Given the description of an element on the screen output the (x, y) to click on. 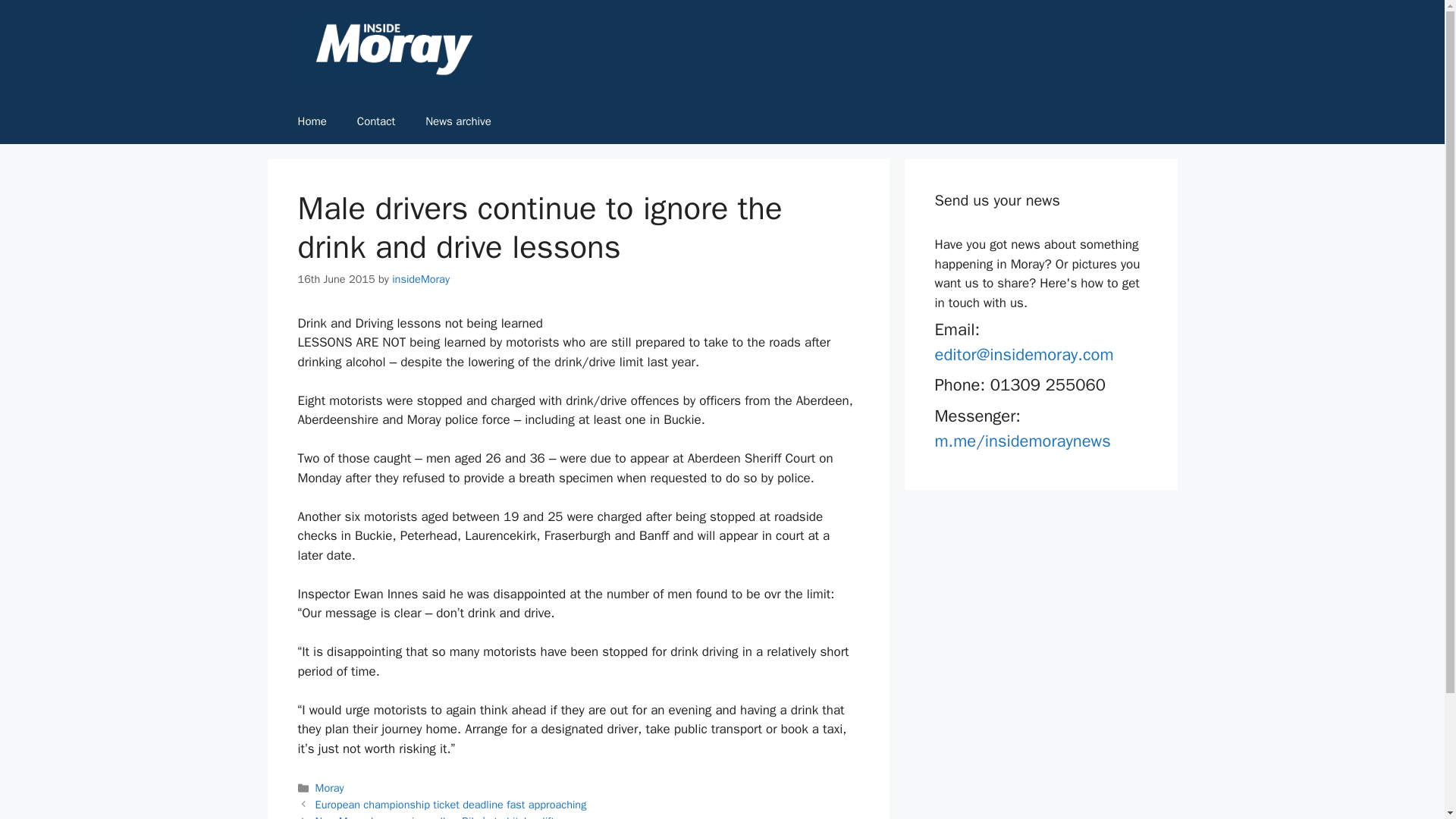
Home (311, 121)
Moray (329, 787)
European championship ticket deadline fast approaching (450, 804)
News archive (458, 121)
insideMoray (420, 278)
View all posts by insideMoray (420, 278)
Contact (376, 121)
